Given the description of an element on the screen output the (x, y) to click on. 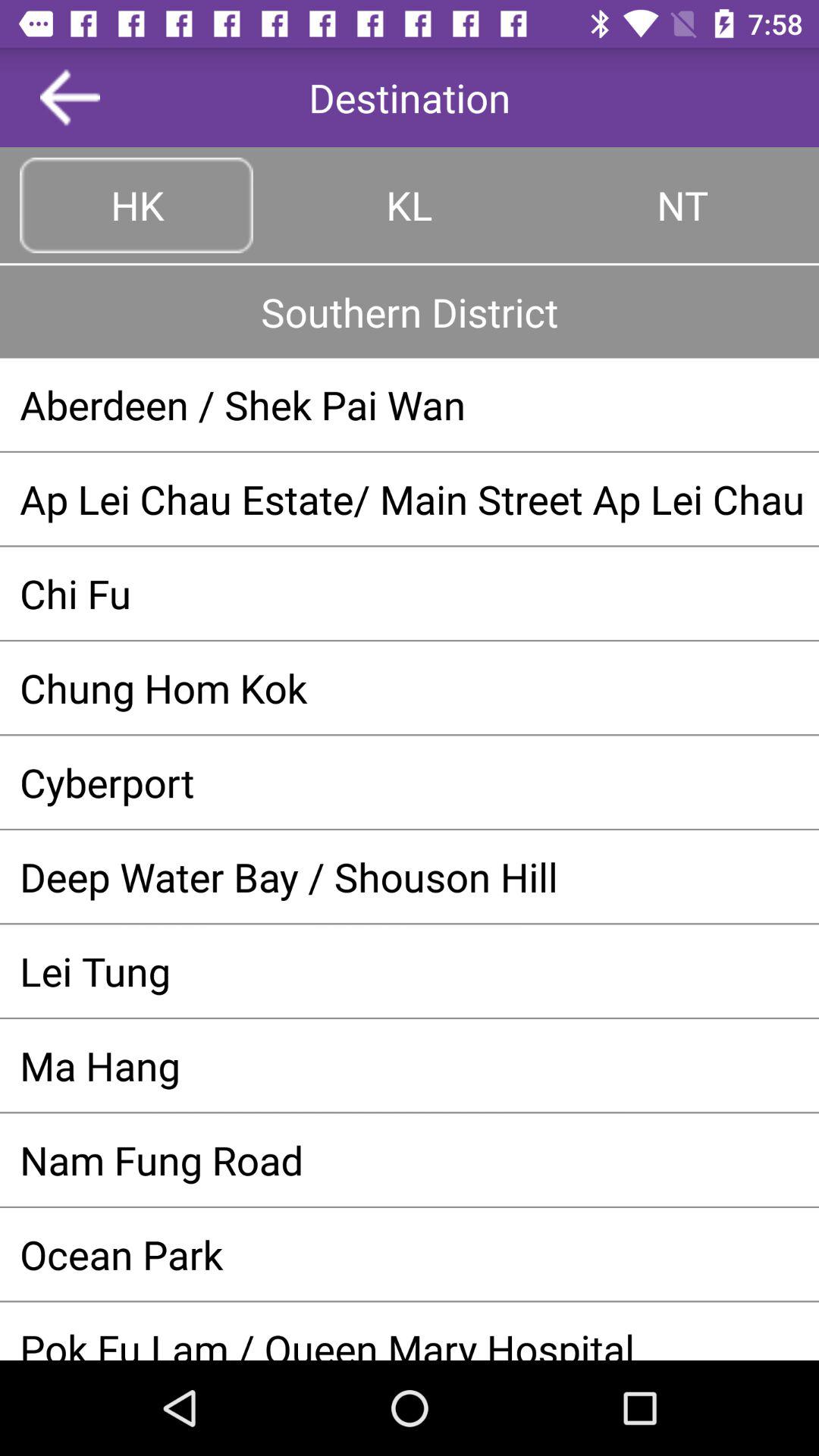
choose app below the aberdeen shek pai app (409, 498)
